Given the description of an element on the screen output the (x, y) to click on. 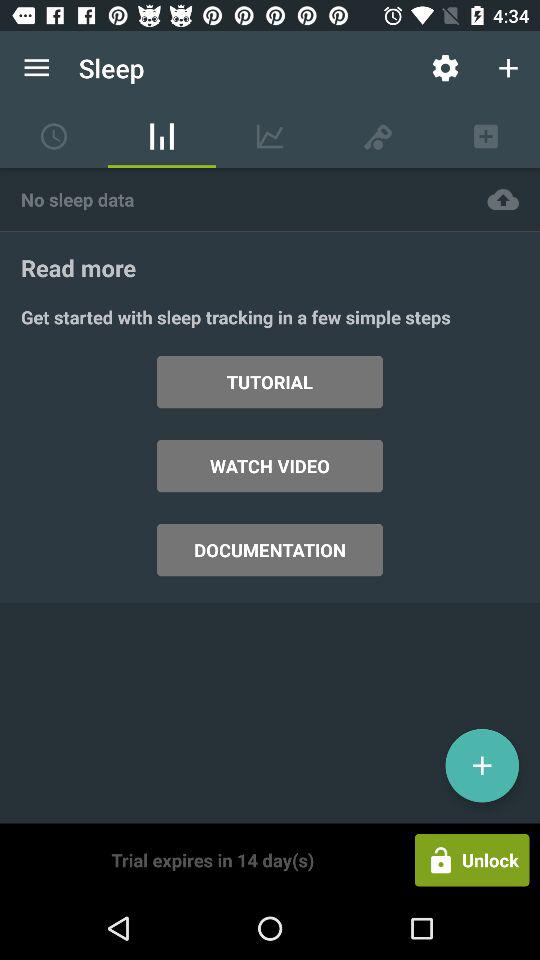
turn on icon above the watch video item (269, 381)
